Given the description of an element on the screen output the (x, y) to click on. 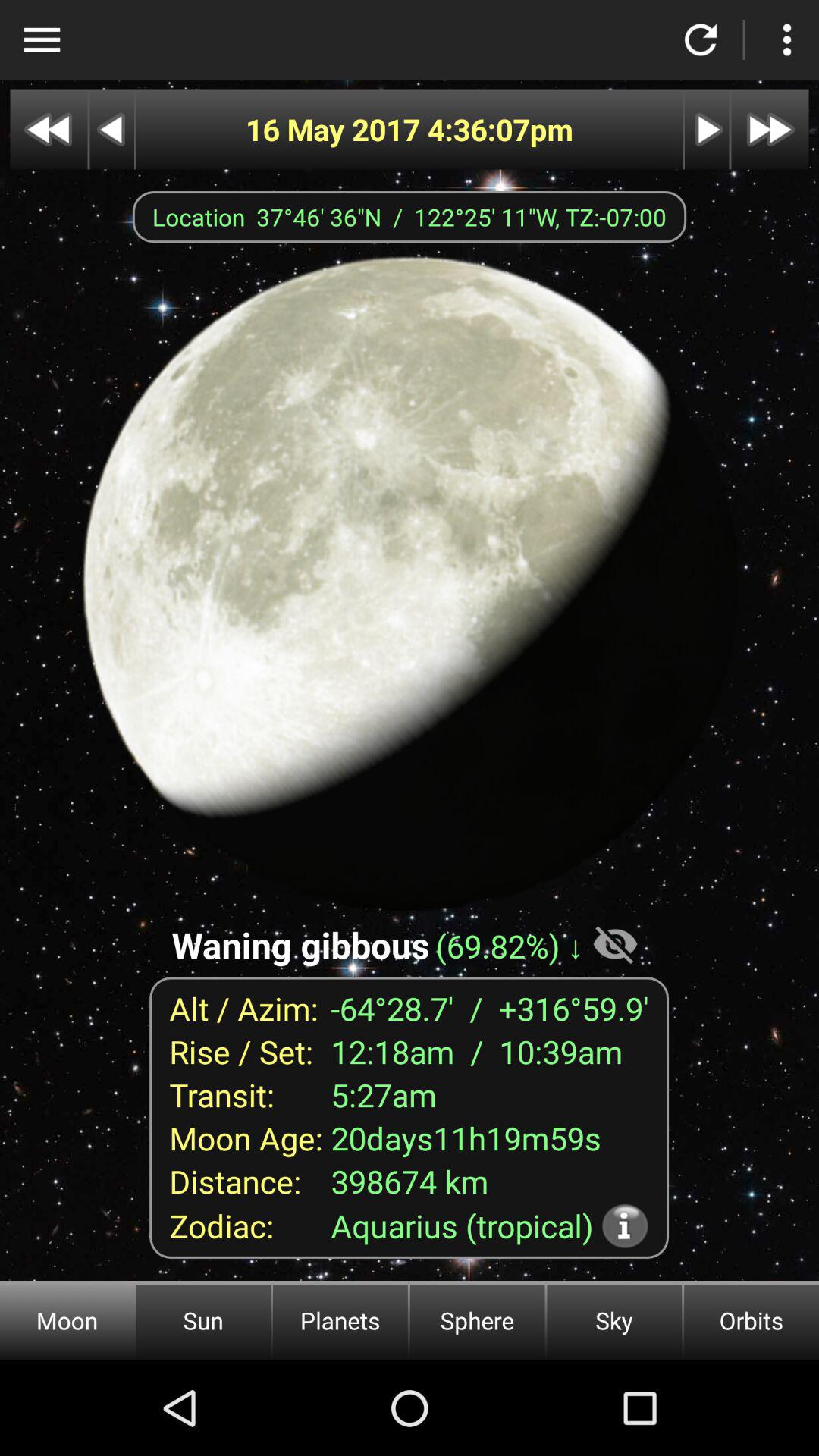
turn off the item on the right (615, 943)
